Given the description of an element on the screen output the (x, y) to click on. 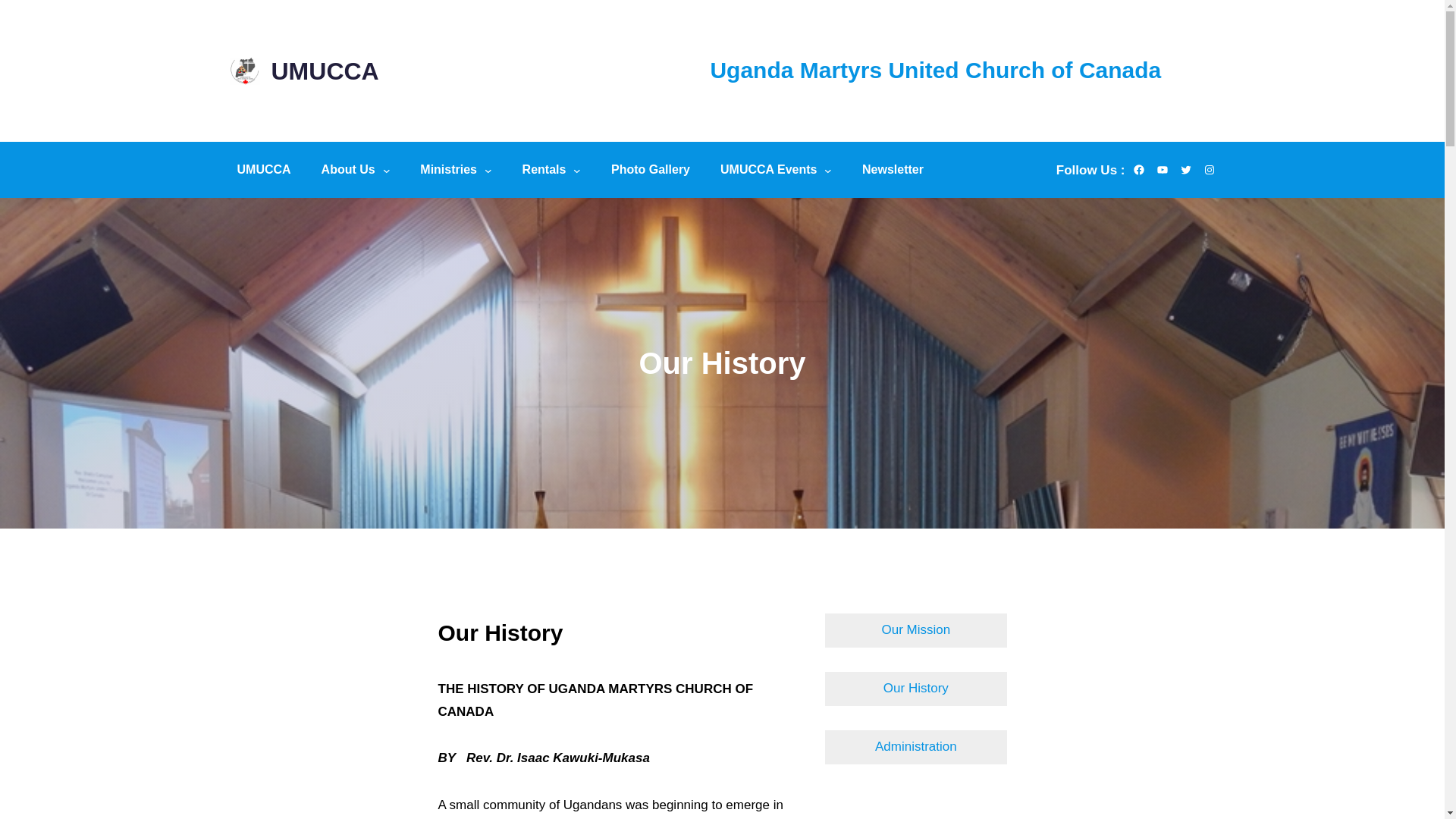
Facebook (1138, 169)
Photo Gallery (650, 169)
UMUCCA Events (768, 169)
YouTube (1161, 169)
About Us (348, 169)
UMUCCA (324, 72)
Ministries (448, 169)
Newsletter (892, 169)
Rentals (544, 169)
UMUCCA (263, 169)
